Given the description of an element on the screen output the (x, y) to click on. 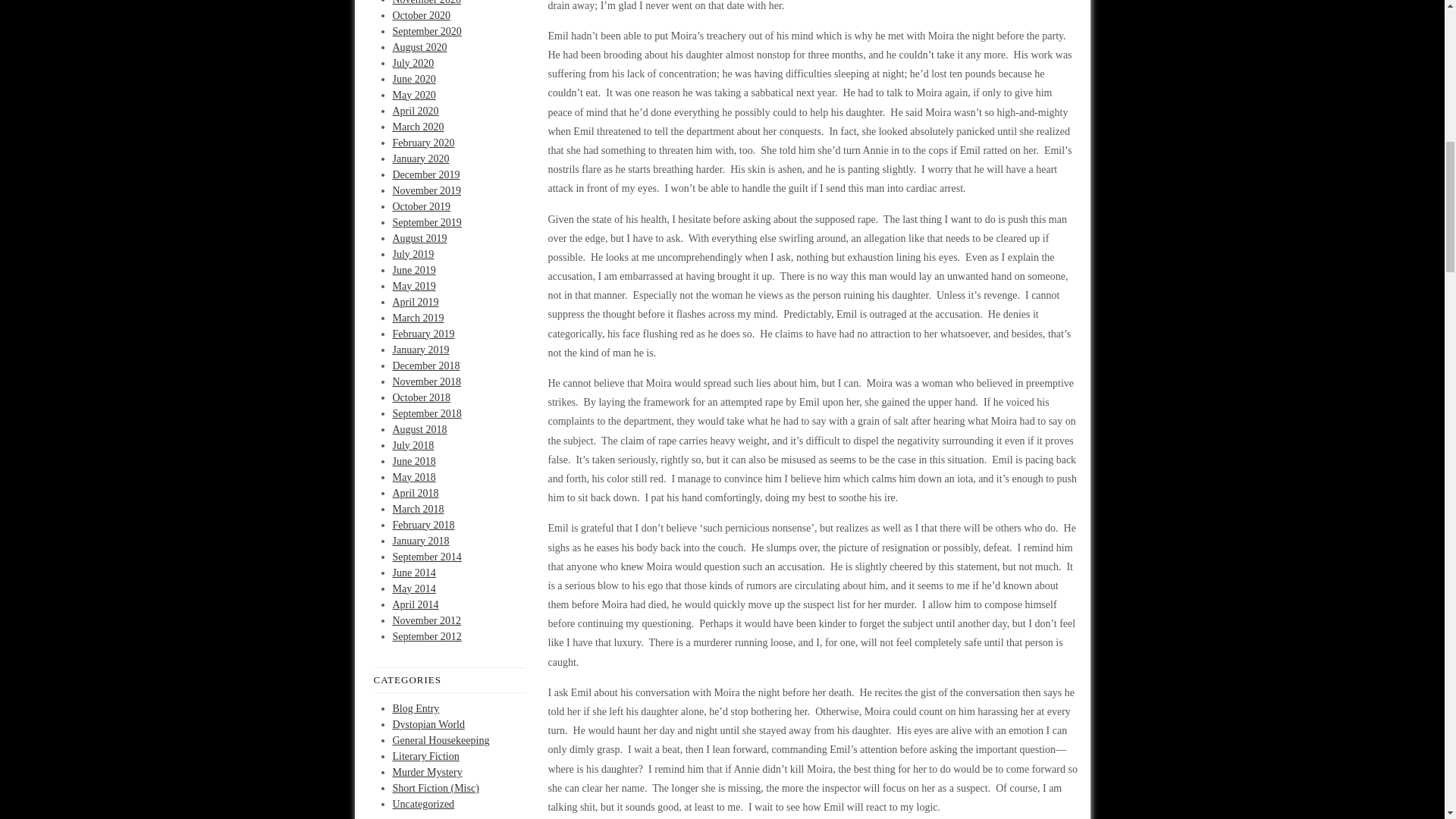
July 2020 (413, 62)
November 2019 (427, 190)
November 2020 (427, 2)
February 2020 (423, 142)
June 2020 (414, 78)
May 2020 (414, 94)
September 2020 (427, 30)
September 2019 (427, 222)
April 2020 (416, 110)
March 2020 (418, 126)
August 2020 (419, 46)
December 2019 (426, 173)
October 2019 (422, 205)
October 2020 (422, 14)
January 2020 (421, 158)
